Given the description of an element on the screen output the (x, y) to click on. 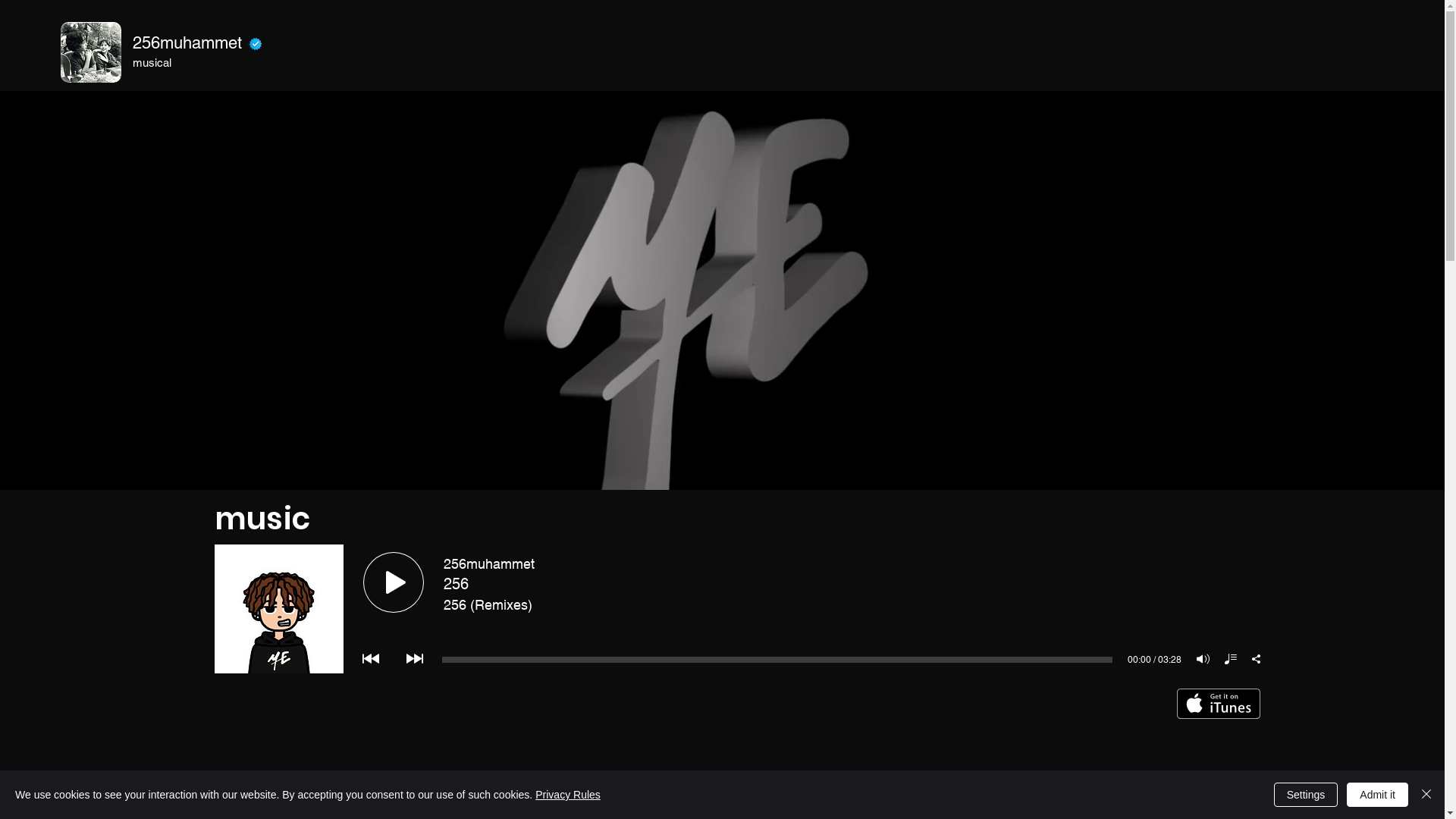
Get it on iTunes Element type: hover (1218, 703)
music Element type: text (261, 518)
Admit it Element type: text (1377, 794)
Wix Music Element type: hover (736, 608)
Privacy Rules Element type: text (567, 794)
Settings Element type: text (1306, 794)
256muhammet Element type: text (186, 42)
